Given the description of an element on the screen output the (x, y) to click on. 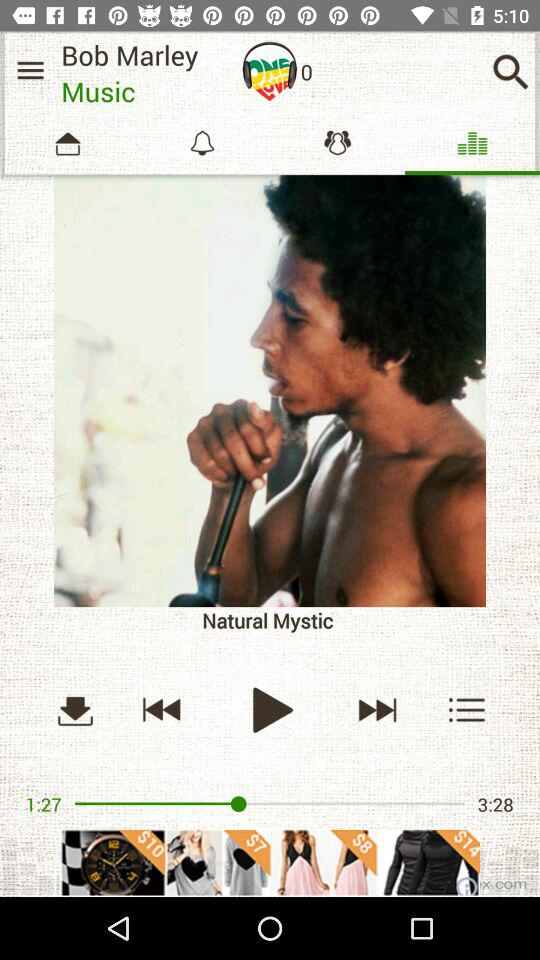
download button (75, 709)
